Given the description of an element on the screen output the (x, y) to click on. 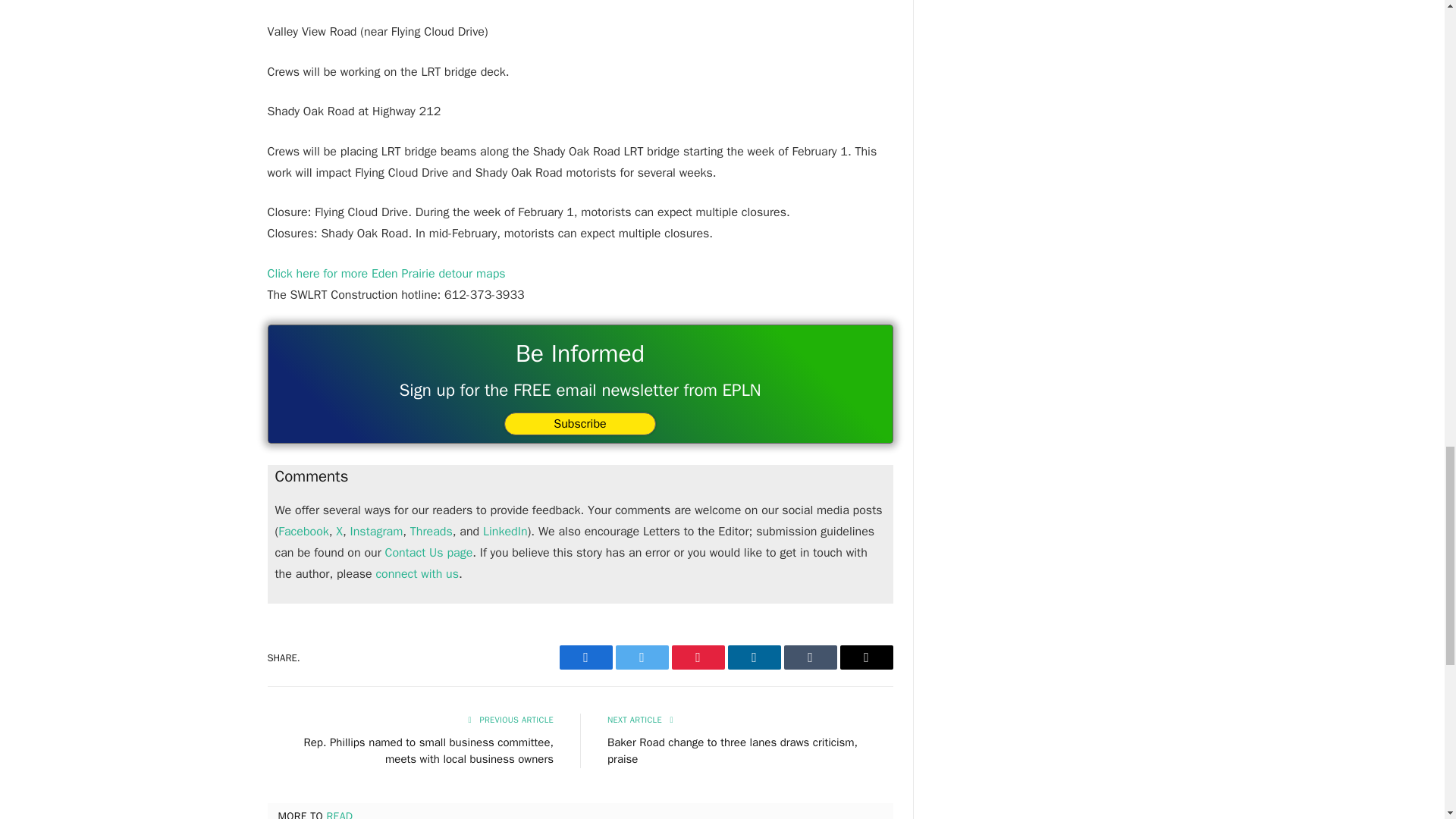
Share via Email (866, 657)
Share on Facebook (585, 657)
Share on Pinterest (698, 657)
Share on Tumblr (810, 657)
Share on LinkedIn (754, 657)
